Given the description of an element on the screen output the (x, y) to click on. 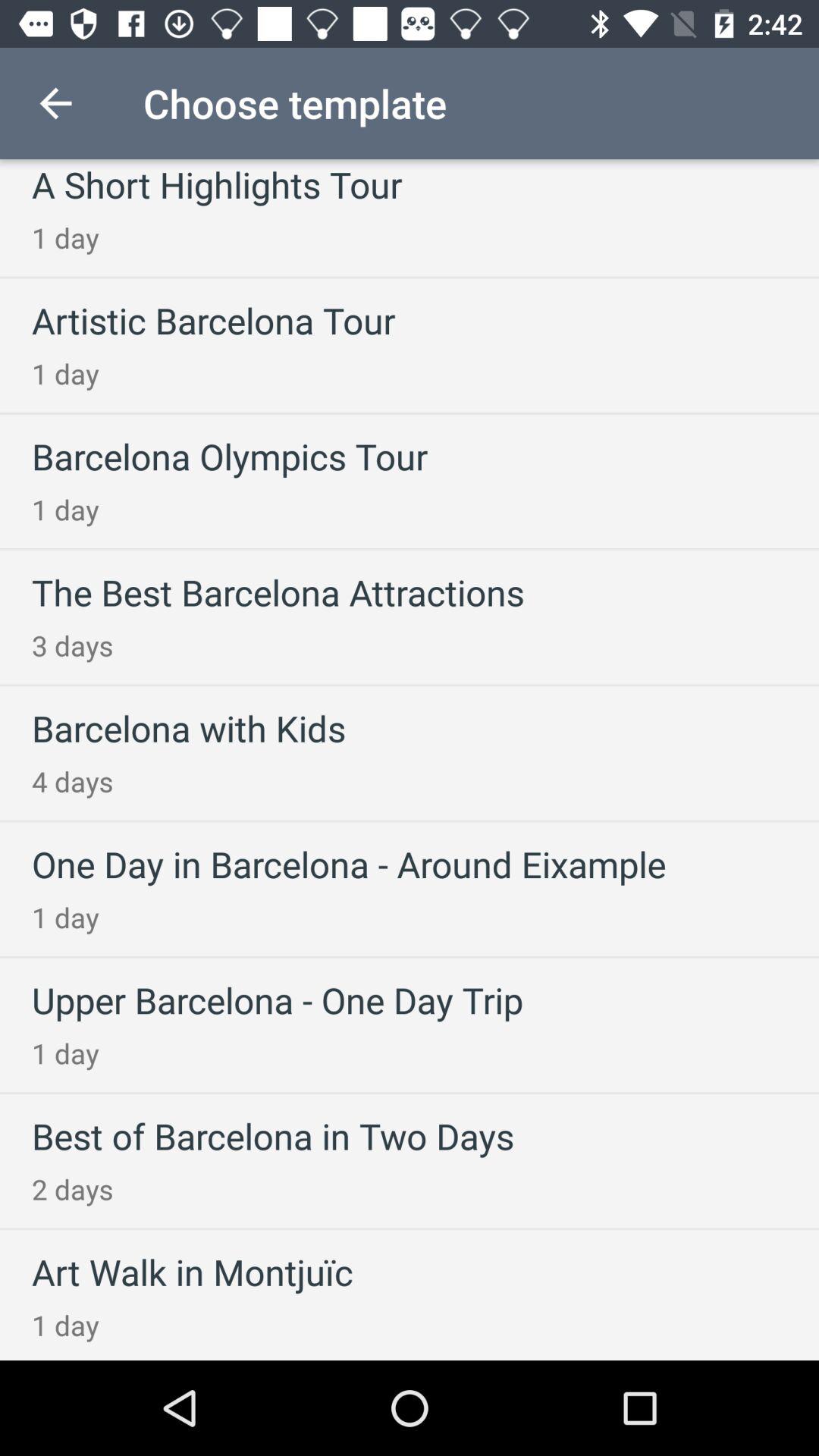
open the item to the left of choose template icon (55, 103)
